Given the description of an element on the screen output the (x, y) to click on. 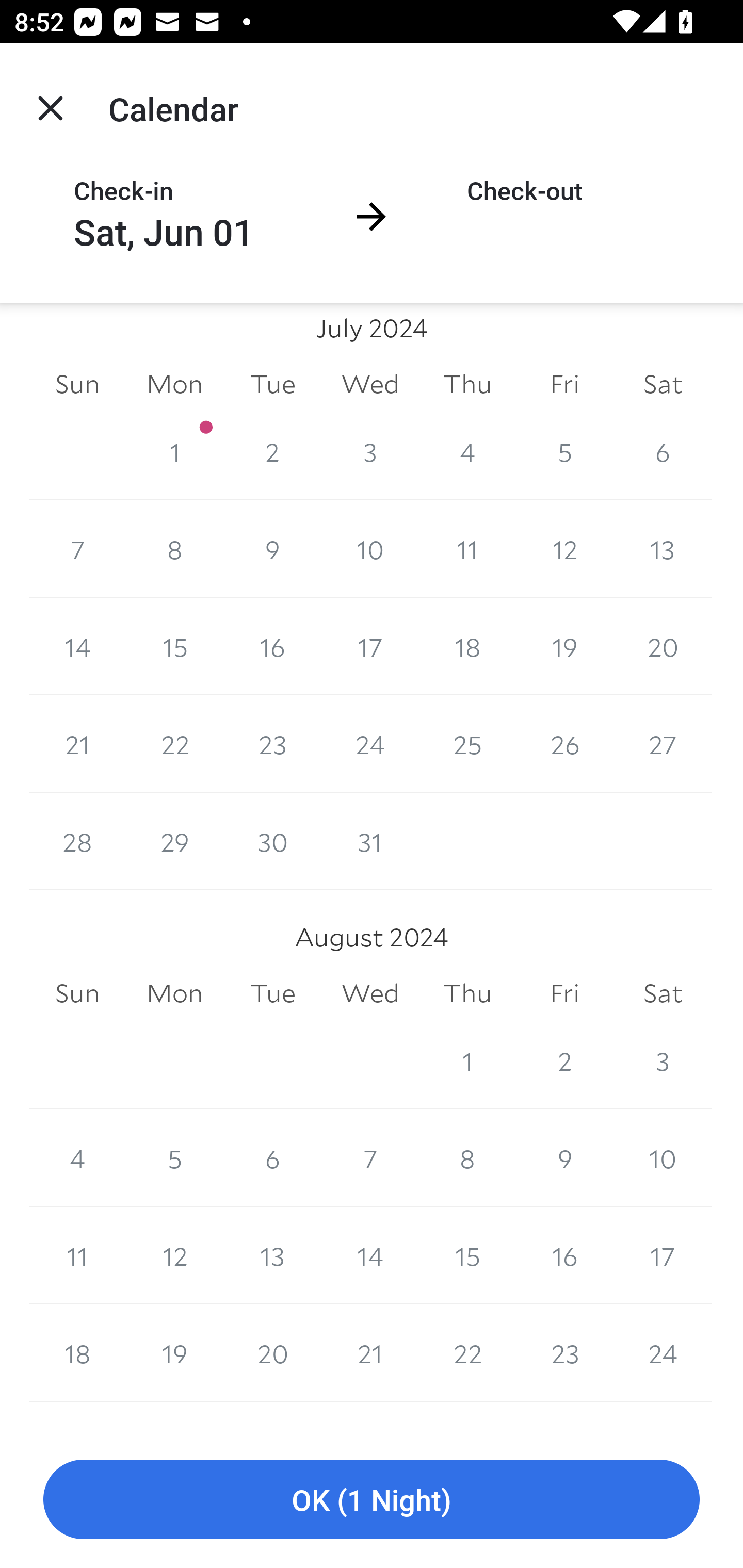
Sun (77, 383)
Mon (174, 383)
Tue (272, 383)
Wed (370, 383)
Thu (467, 383)
Fri (564, 383)
Sat (662, 383)
1 1 July 2024 (174, 451)
2 2 July 2024 (272, 451)
3 3 July 2024 (370, 451)
4 4 July 2024 (467, 451)
5 5 July 2024 (564, 451)
6 6 July 2024 (662, 451)
7 7 July 2024 (77, 548)
8 8 July 2024 (174, 548)
9 9 July 2024 (272, 548)
10 10 July 2024 (370, 548)
11 11 July 2024 (467, 548)
12 12 July 2024 (564, 548)
13 13 July 2024 (662, 548)
14 14 July 2024 (77, 645)
15 15 July 2024 (174, 645)
16 16 July 2024 (272, 645)
17 17 July 2024 (370, 645)
18 18 July 2024 (467, 645)
19 19 July 2024 (564, 645)
20 20 July 2024 (662, 645)
21 21 July 2024 (77, 743)
22 22 July 2024 (174, 743)
23 23 July 2024 (272, 743)
24 24 July 2024 (370, 743)
25 25 July 2024 (467, 743)
26 26 July 2024 (564, 743)
27 27 July 2024 (662, 743)
28 28 July 2024 (77, 841)
29 29 July 2024 (174, 841)
30 30 July 2024 (272, 841)
31 31 July 2024 (370, 841)
Sun (77, 993)
Mon (174, 993)
Tue (272, 993)
Wed (370, 993)
Thu (467, 993)
Fri (564, 993)
Sat (662, 993)
1 1 August 2024 (467, 1060)
2 2 August 2024 (564, 1060)
3 3 August 2024 (662, 1060)
4 4 August 2024 (77, 1158)
5 5 August 2024 (174, 1158)
6 6 August 2024 (272, 1158)
7 7 August 2024 (370, 1158)
8 8 August 2024 (467, 1158)
9 9 August 2024 (564, 1158)
10 10 August 2024 (662, 1158)
11 11 August 2024 (77, 1255)
12 12 August 2024 (174, 1255)
13 13 August 2024 (272, 1255)
14 14 August 2024 (370, 1255)
15 15 August 2024 (467, 1255)
16 16 August 2024 (564, 1255)
17 17 August 2024 (662, 1255)
18 18 August 2024 (77, 1352)
19 19 August 2024 (174, 1352)
20 20 August 2024 (272, 1352)
21 21 August 2024 (370, 1352)
22 22 August 2024 (467, 1352)
23 23 August 2024 (564, 1352)
24 24 August 2024 (662, 1352)
OK (1 Night) (371, 1499)
